Given the description of an element on the screen output the (x, y) to click on. 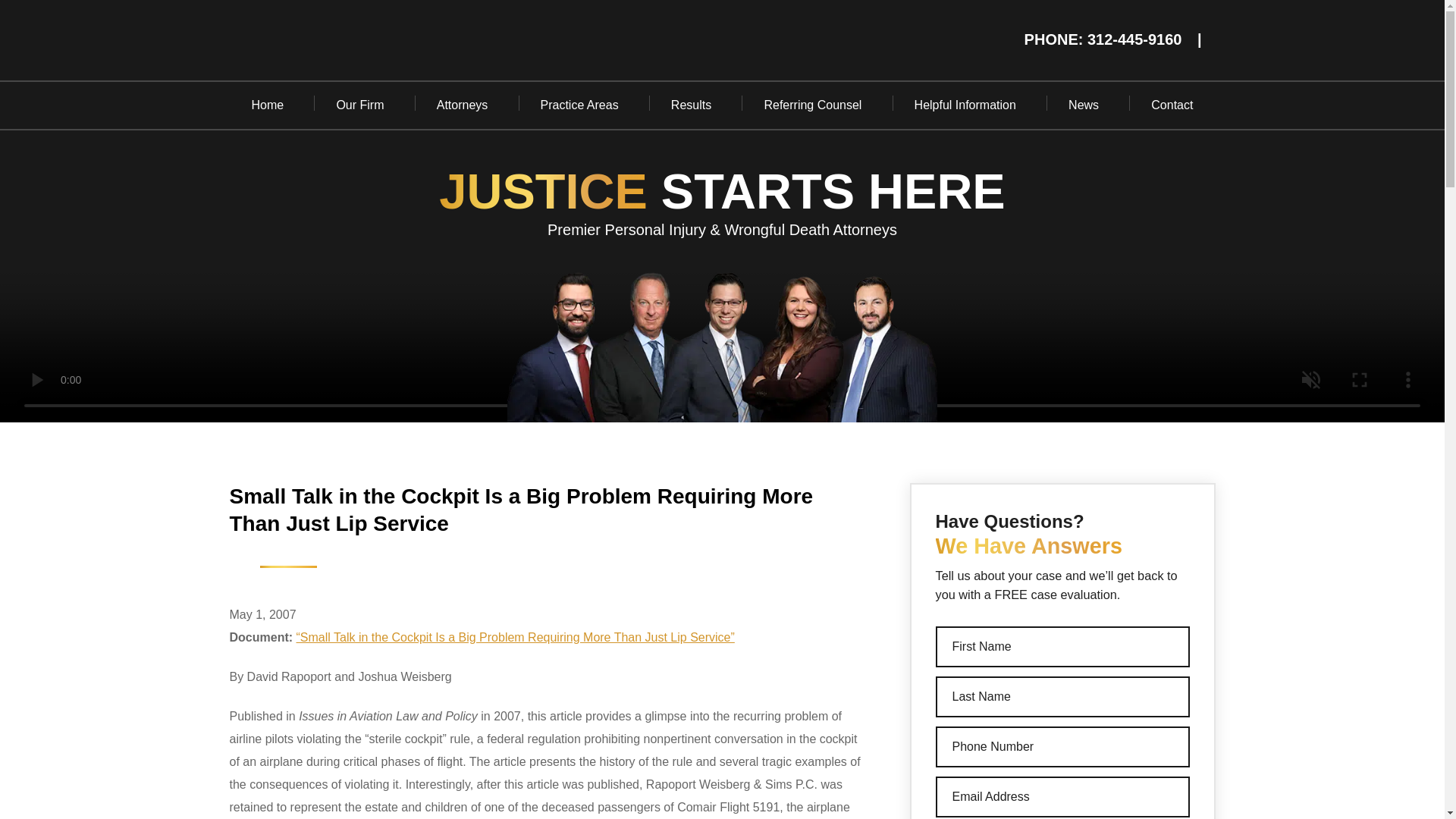
Home (266, 105)
Helpful Information (965, 105)
Contact (1171, 105)
Our Firm (360, 105)
News (1083, 105)
Referring Counsel (812, 105)
Results (691, 105)
Attorneys (462, 105)
Practice Areas (579, 105)
312-445-9160 (1134, 39)
